Given the description of an element on the screen output the (x, y) to click on. 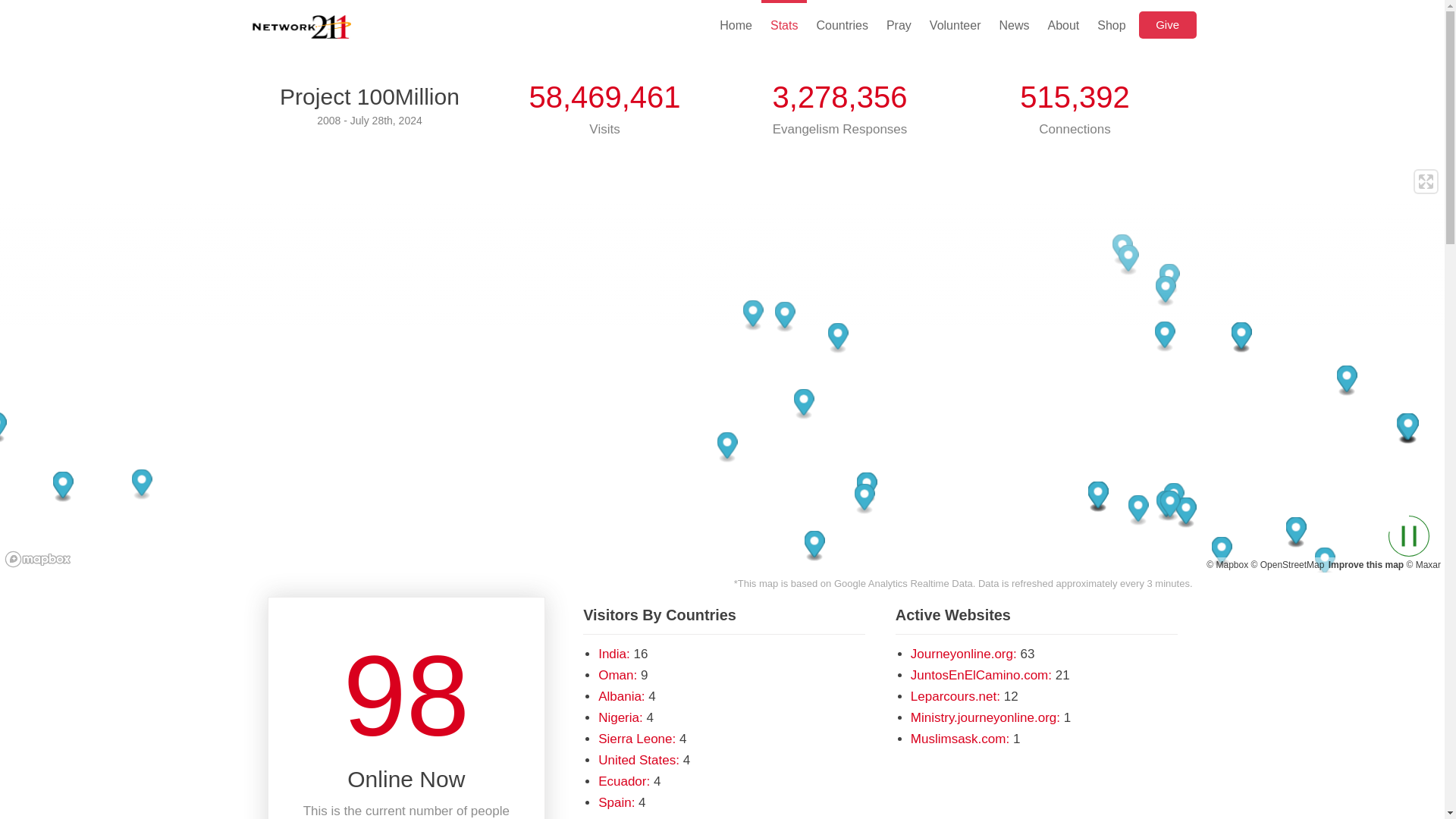
Improve this map (1365, 564)
Maxar (1423, 564)
About (1062, 24)
Home (735, 24)
Give (1167, 24)
Enter fullscreen (1426, 181)
Shop (1110, 24)
Pray (898, 24)
Network211 (300, 28)
Stats (783, 24)
News (1014, 24)
Mapbox (1227, 564)
Countries (841, 24)
OpenStreetMap (1287, 564)
Improve this map (1365, 564)
